Given the description of an element on the screen output the (x, y) to click on. 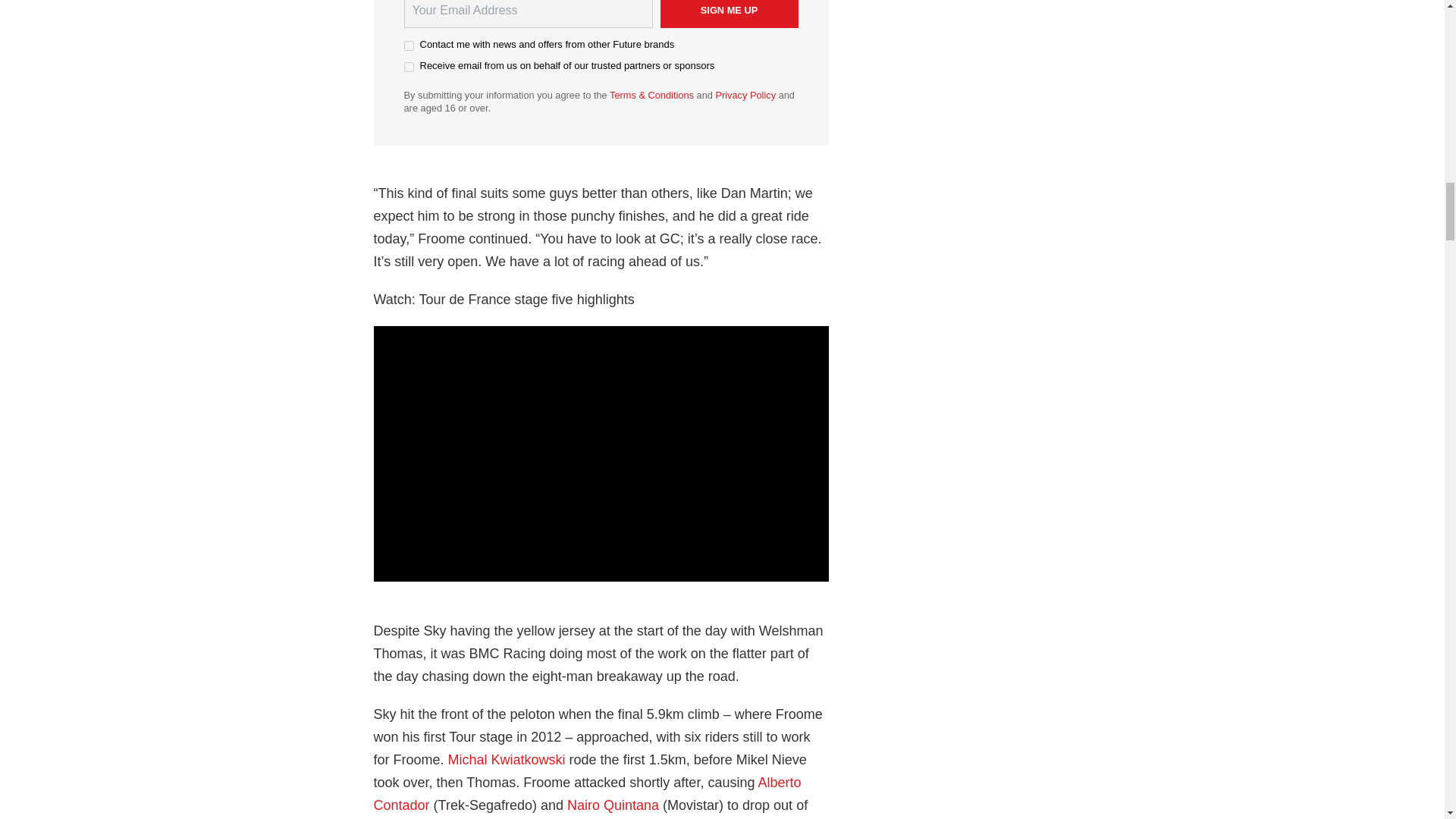
on (408, 67)
on (408, 45)
Sign me up (728, 13)
